Given the description of an element on the screen output the (x, y) to click on. 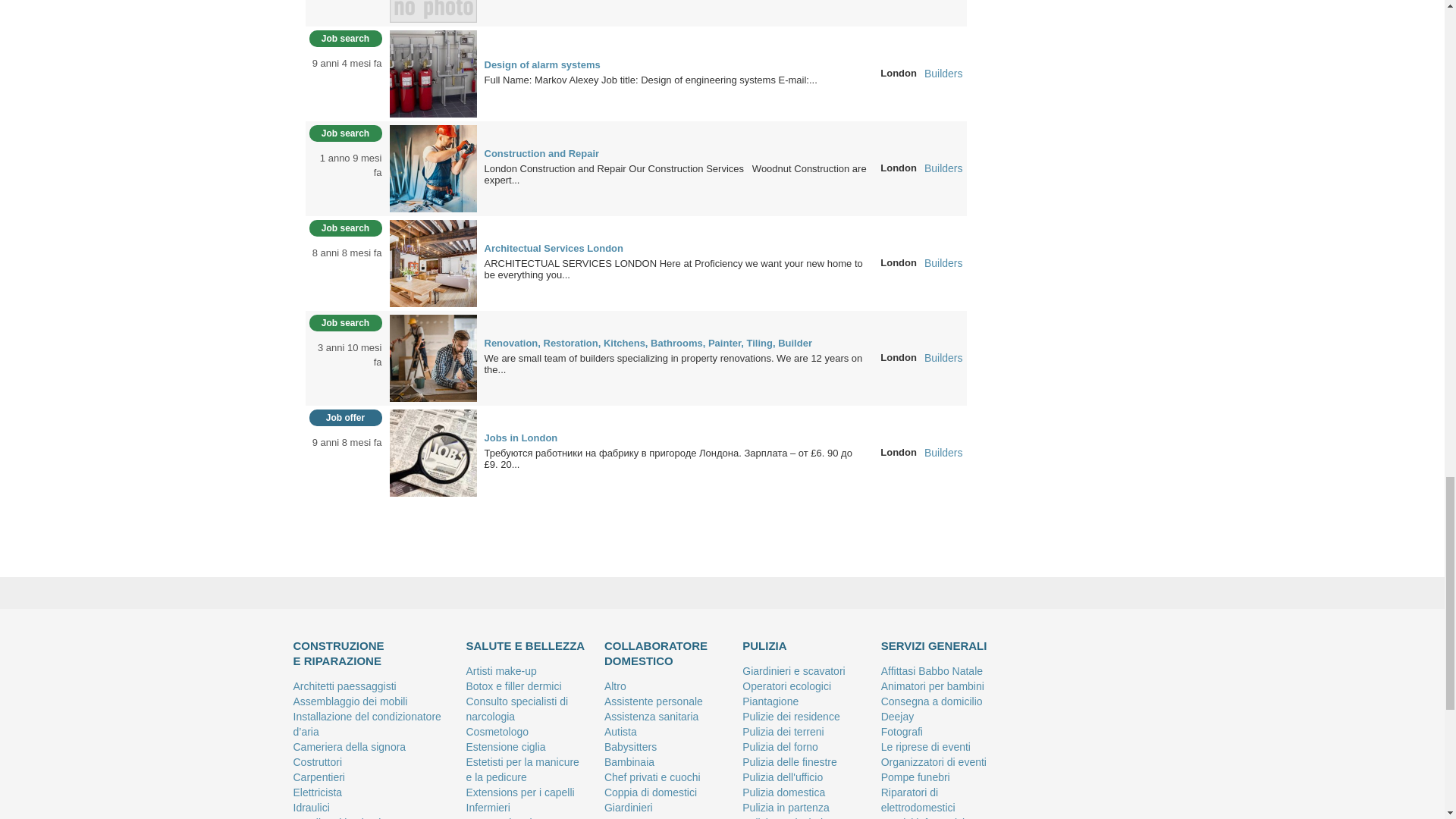
Jobs in London (433, 451)
Architectual Services London (433, 262)
Construction and Repair (433, 167)
Design of alarm systems (433, 72)
